Given the description of an element on the screen output the (x, y) to click on. 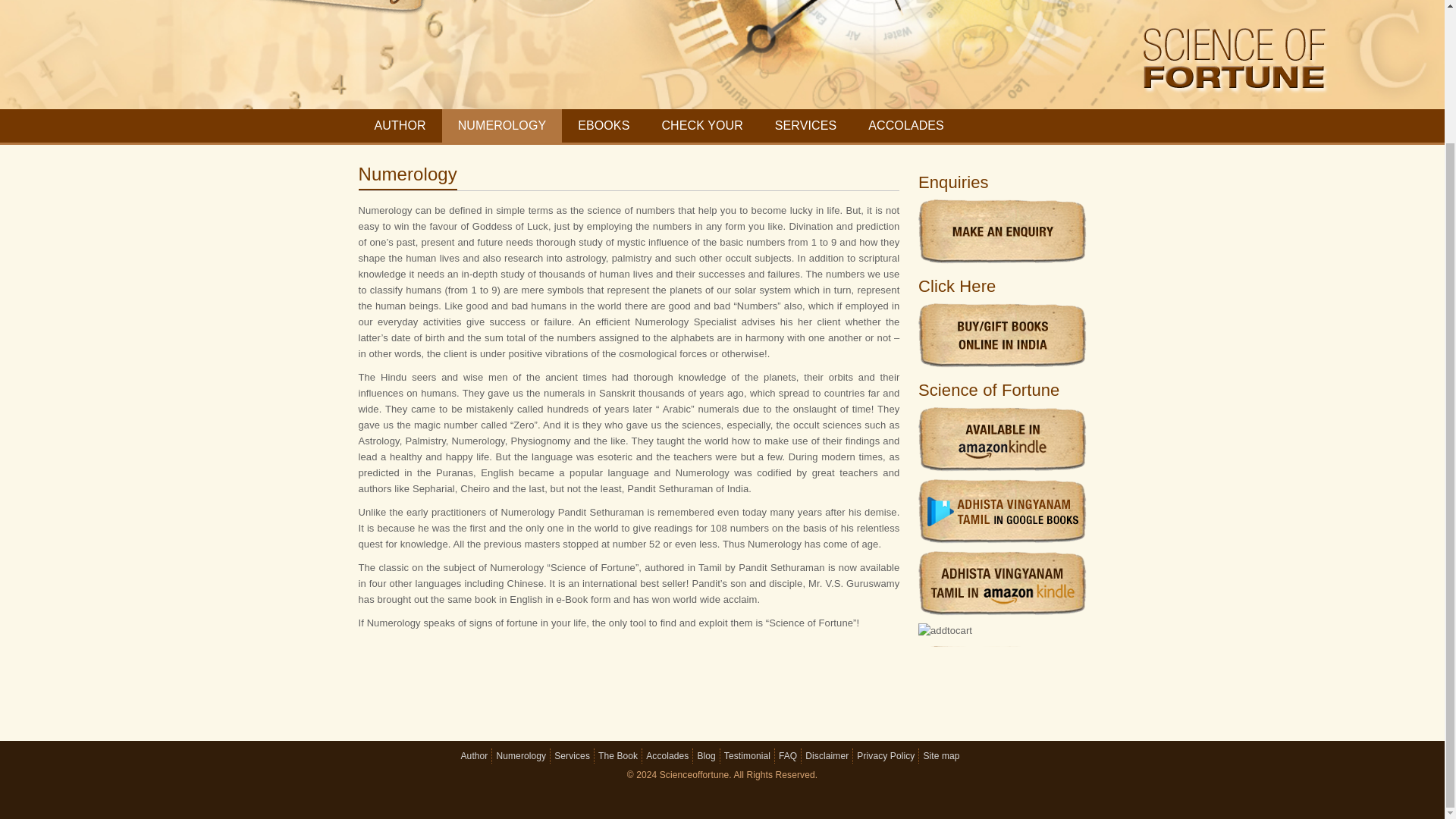
AUTHOR (399, 125)
Disclaimer (826, 756)
Privacy Policy (885, 756)
Numerology Specialist (685, 321)
FAQ (787, 756)
Testimonial (746, 756)
Numerology (521, 756)
CHECK YOUR (701, 125)
Author (474, 756)
EBOOKS (603, 125)
